Given the description of an element on the screen output the (x, y) to click on. 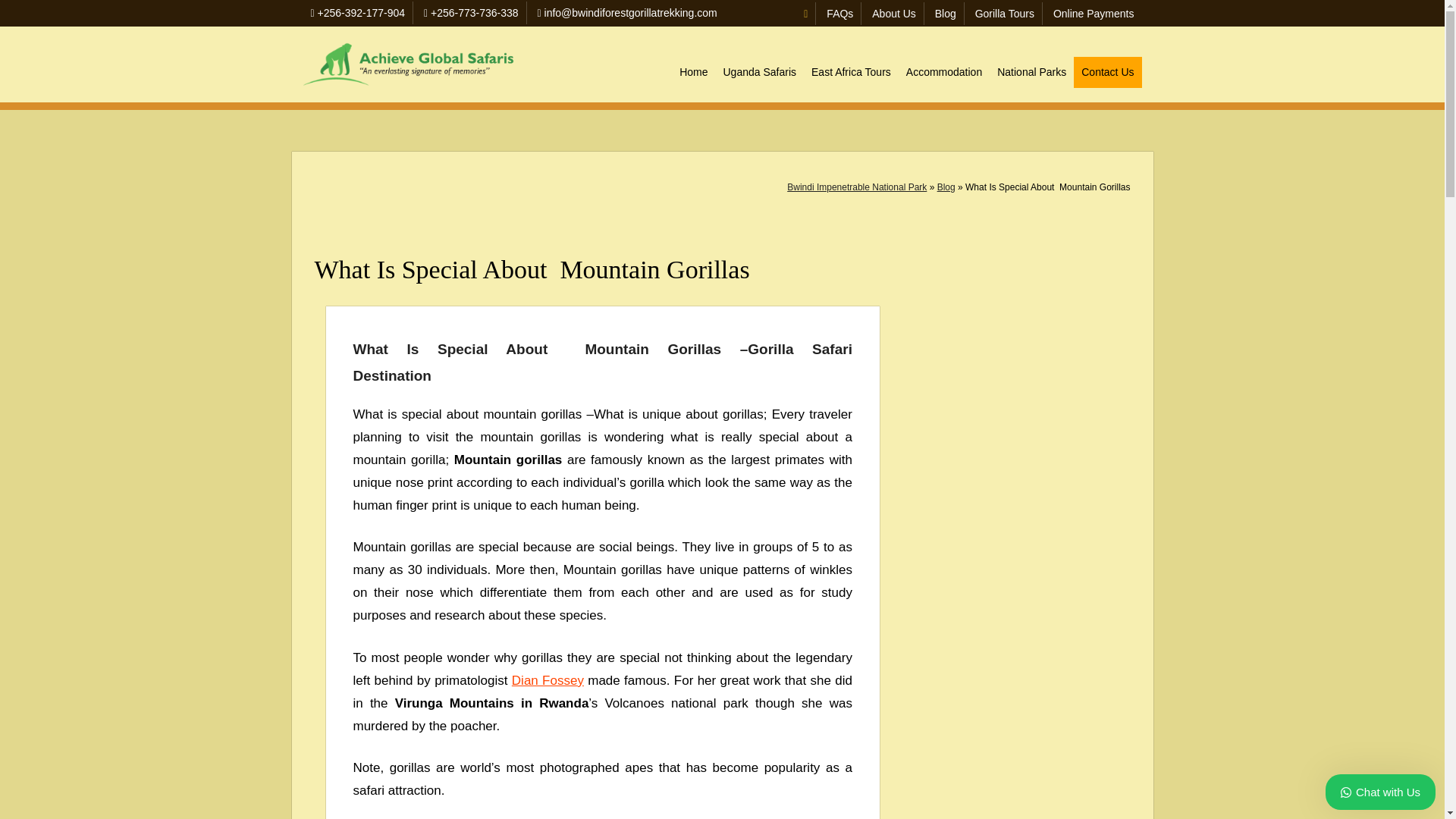
East Africa Tours (850, 71)
Blog (946, 186)
Gorilla Tours (1004, 13)
Uganda Safaris (760, 71)
National Parks (1032, 71)
About Us (893, 13)
FAQs (840, 13)
Blog (945, 13)
Online Payments (1093, 13)
Dian Fossey (547, 680)
